Given the description of an element on the screen output the (x, y) to click on. 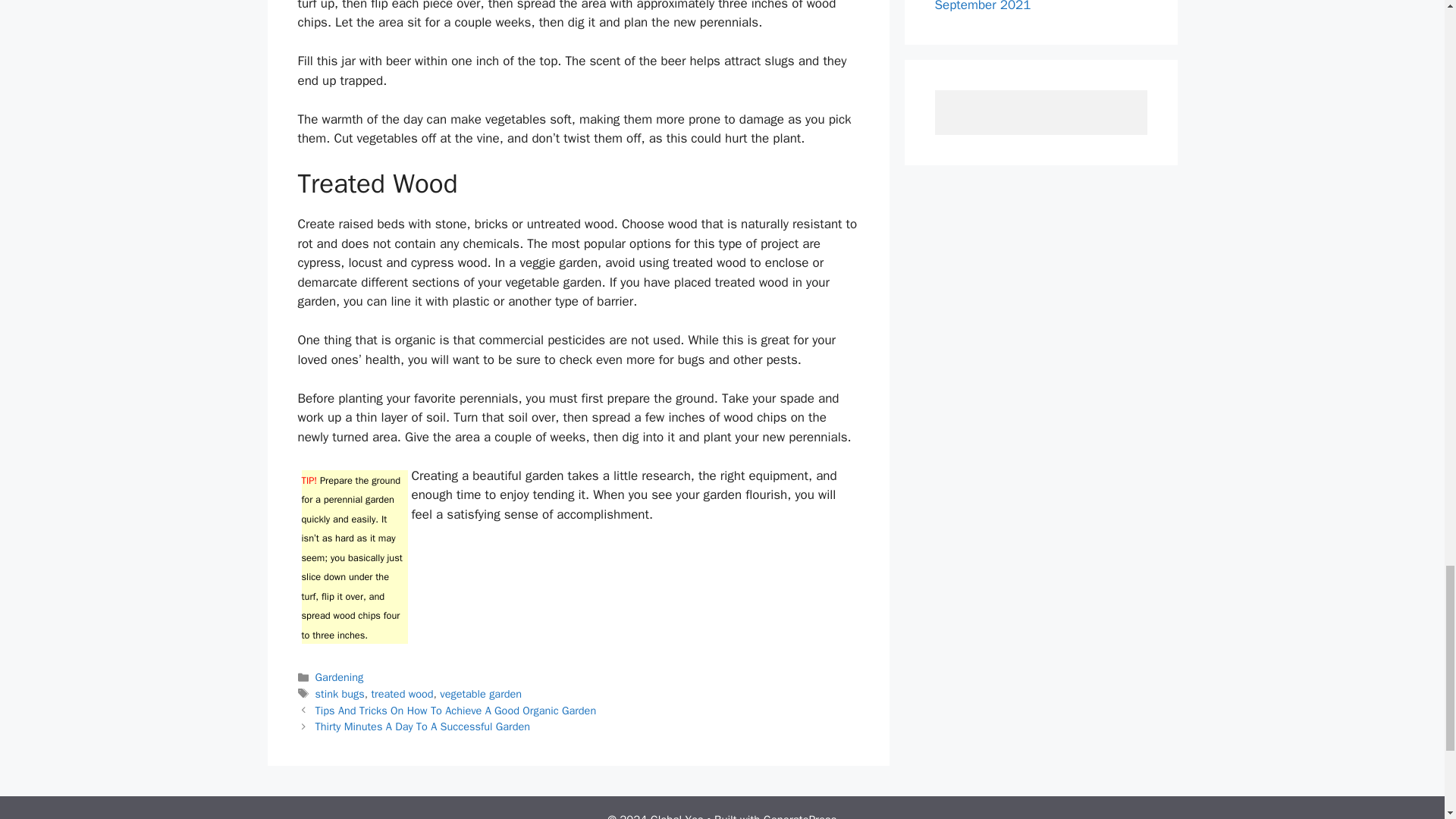
Thirty Minutes A Day To A Successful Garden (422, 726)
Tips And Tricks On How To Achieve A Good Organic Garden (455, 710)
stink bugs (340, 694)
Gardening (339, 676)
treated wood (401, 694)
vegetable garden (480, 694)
